Given the description of an element on the screen output the (x, y) to click on. 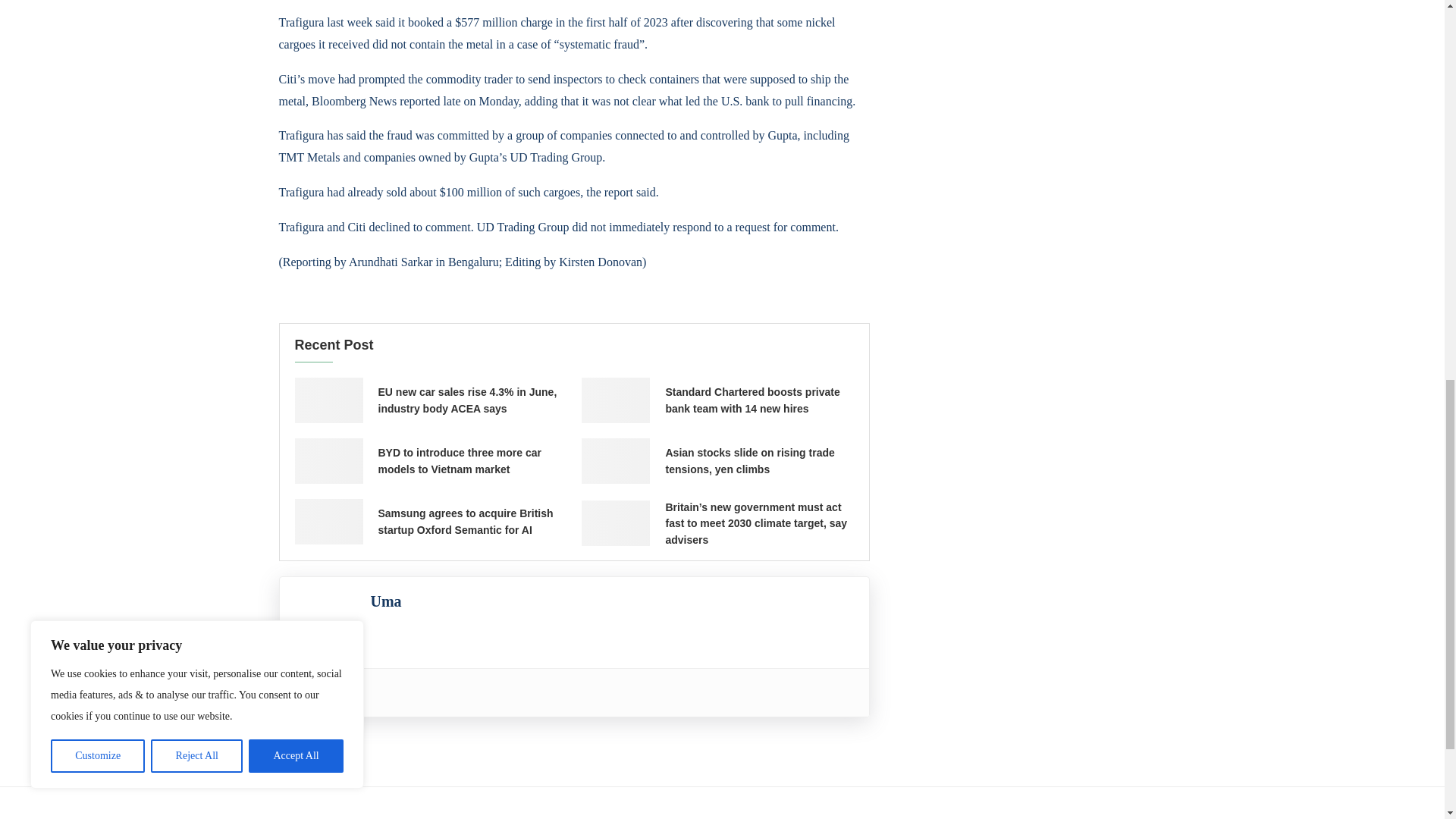
User email (298, 692)
BYD to introduce three more car models to Vietnam market (328, 461)
Asian stocks slide on rising trade tensions, yen climbs (614, 461)
